Given the description of an element on the screen output the (x, y) to click on. 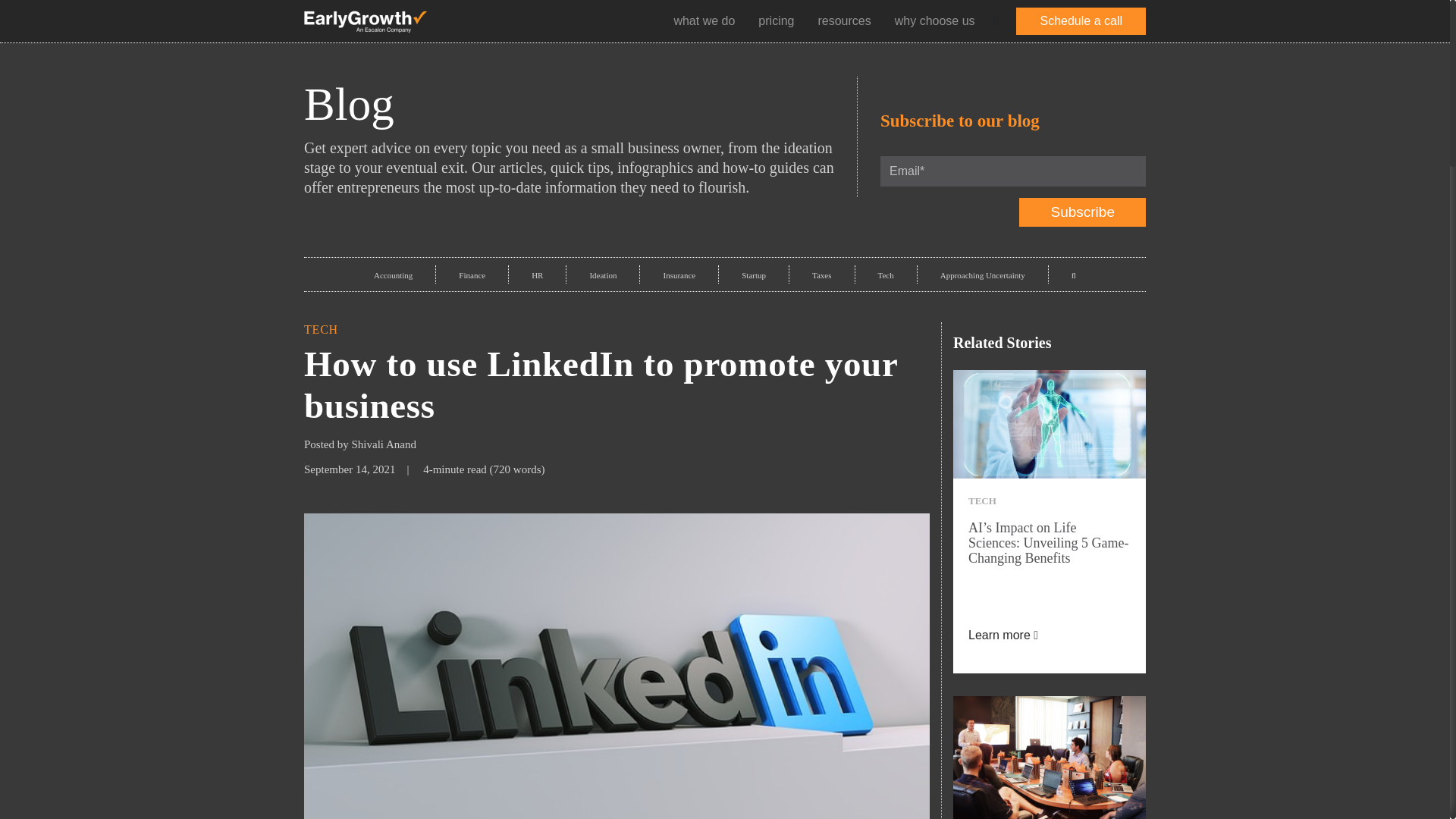
Finance (471, 275)
Schedule a call (1080, 21)
what we do (703, 20)
Subscribe (1082, 212)
pricing (775, 20)
why choose us (934, 20)
Subscribe (1082, 212)
resources (843, 20)
Accounting (393, 275)
